Given the description of an element on the screen output the (x, y) to click on. 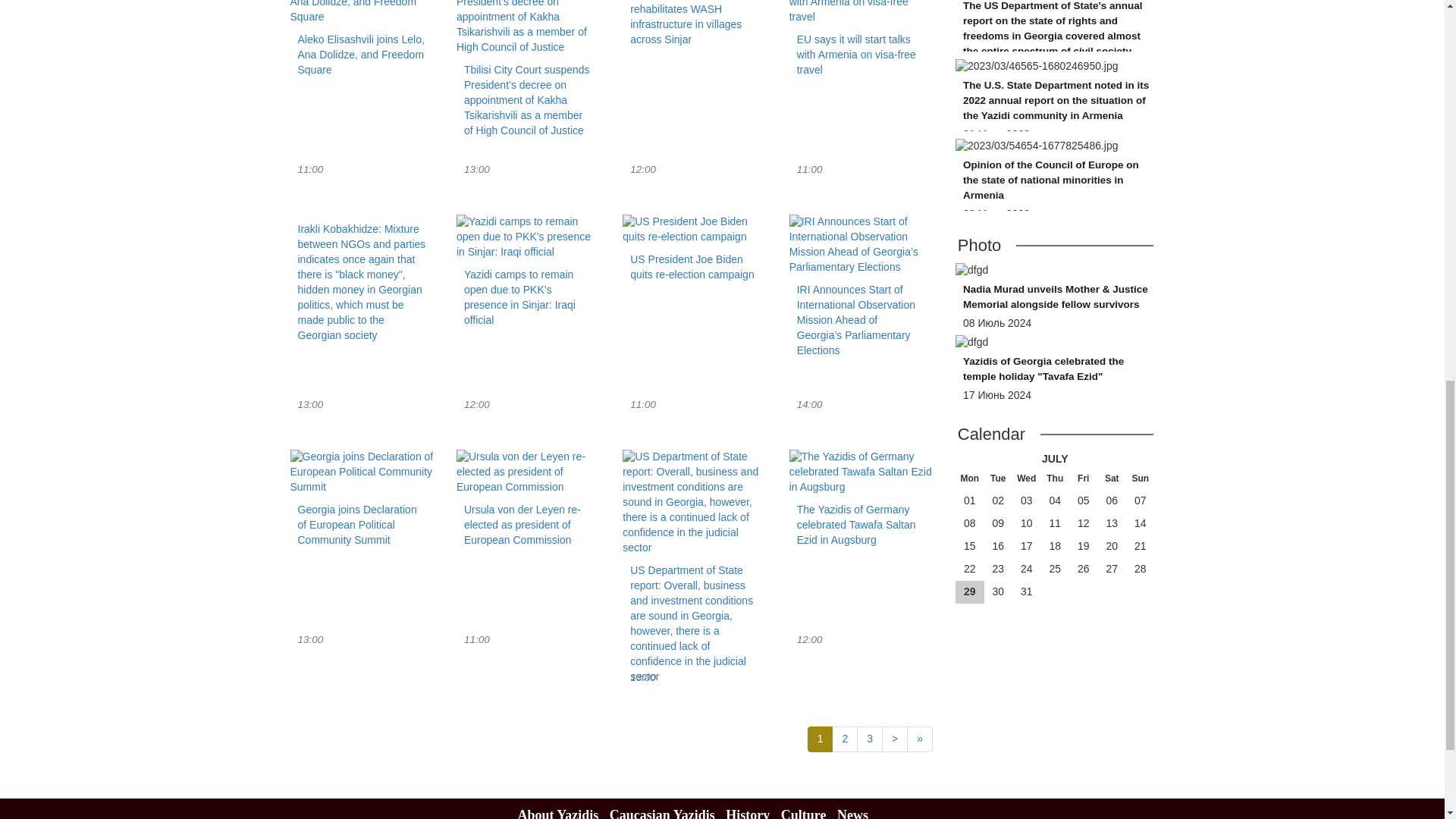
Next (894, 739)
Page 2 (844, 739)
Page 3 (694, 252)
Last (869, 739)
